Given the description of an element on the screen output the (x, y) to click on. 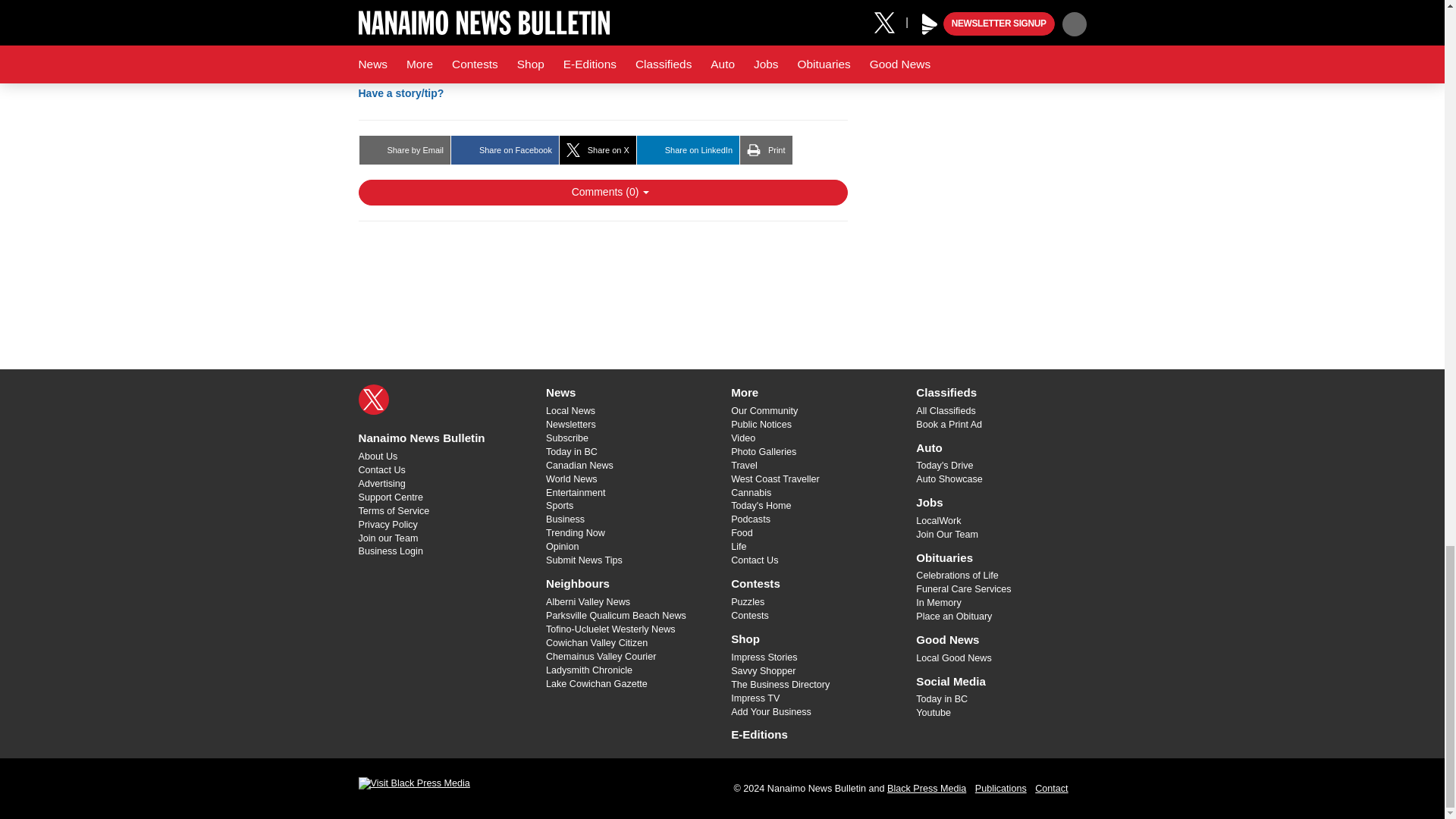
Show Comments (602, 192)
X (373, 399)
